Given the description of an element on the screen output the (x, y) to click on. 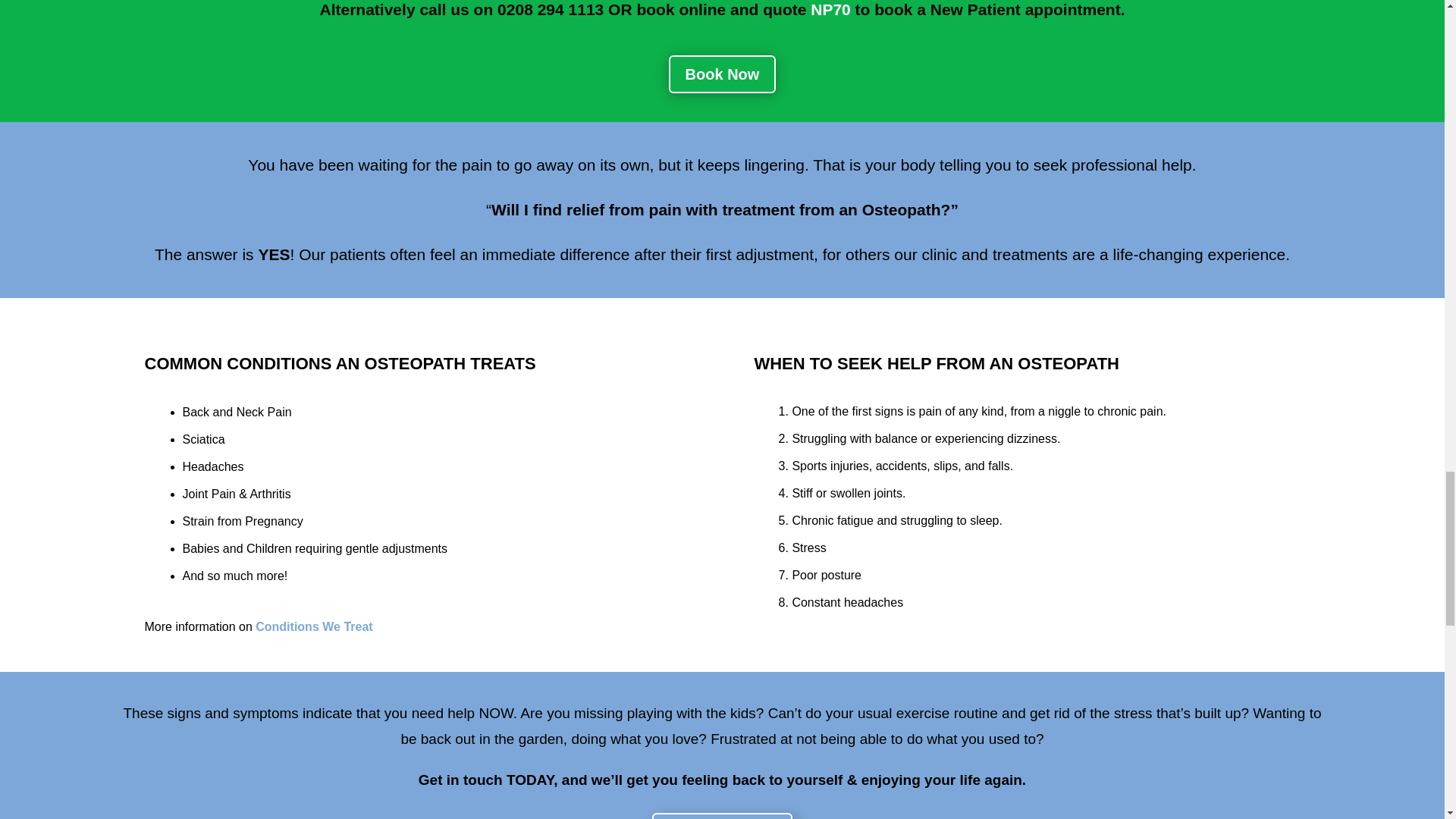
CALL US NOW (722, 816)
Book Now (722, 74)
Conditions We Treat (314, 626)
